Given the description of an element on the screen output the (x, y) to click on. 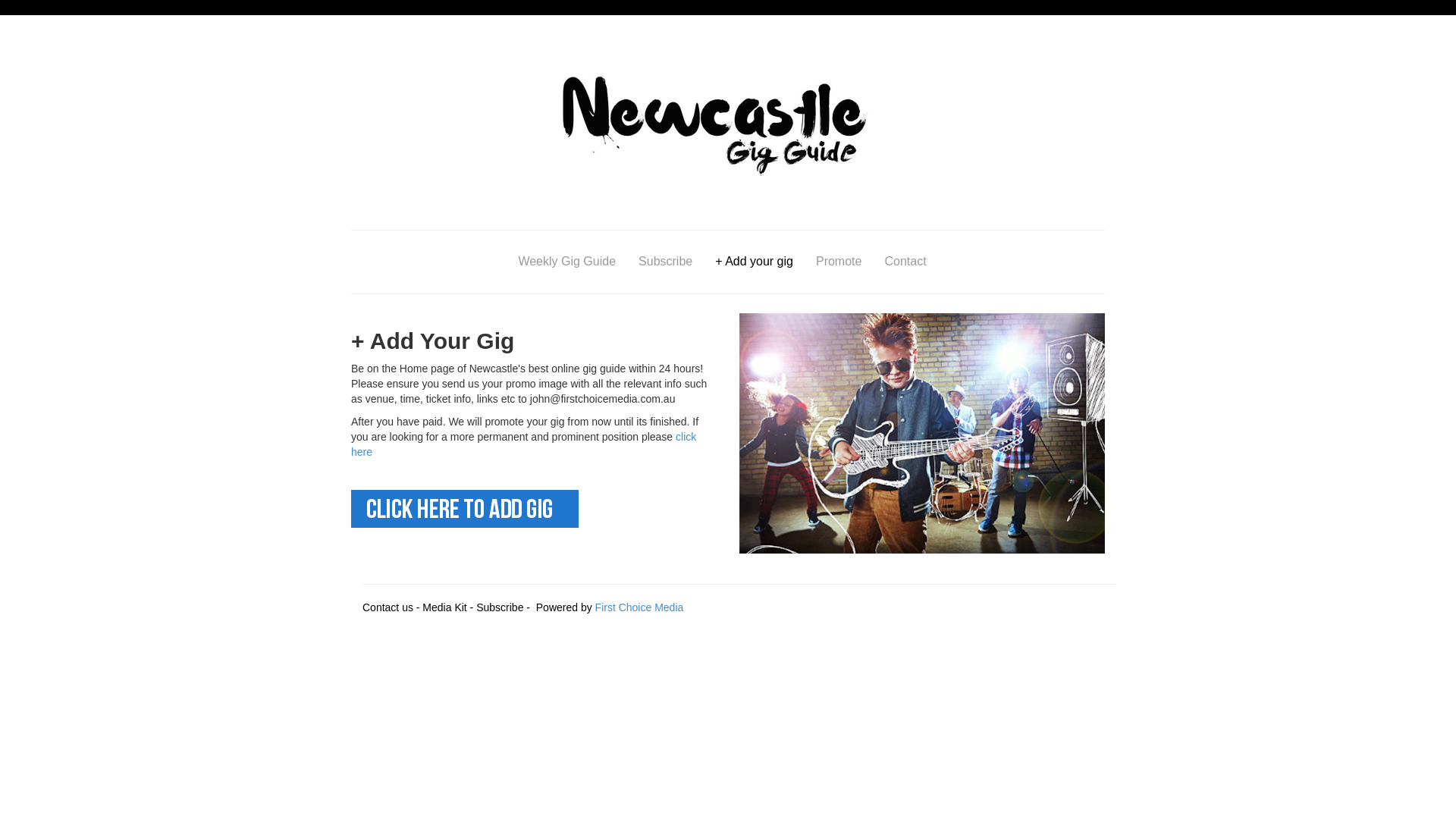
First Choice Media Element type: text (639, 607)
click here  Element type: text (523, 444)
Weekly Gig Guide Element type: text (566, 261)
Contact Element type: text (904, 261)
Subscribe Element type: text (665, 261)
Promote Element type: text (838, 261)
+ Add your gig Element type: text (753, 261)
